Given the description of an element on the screen output the (x, y) to click on. 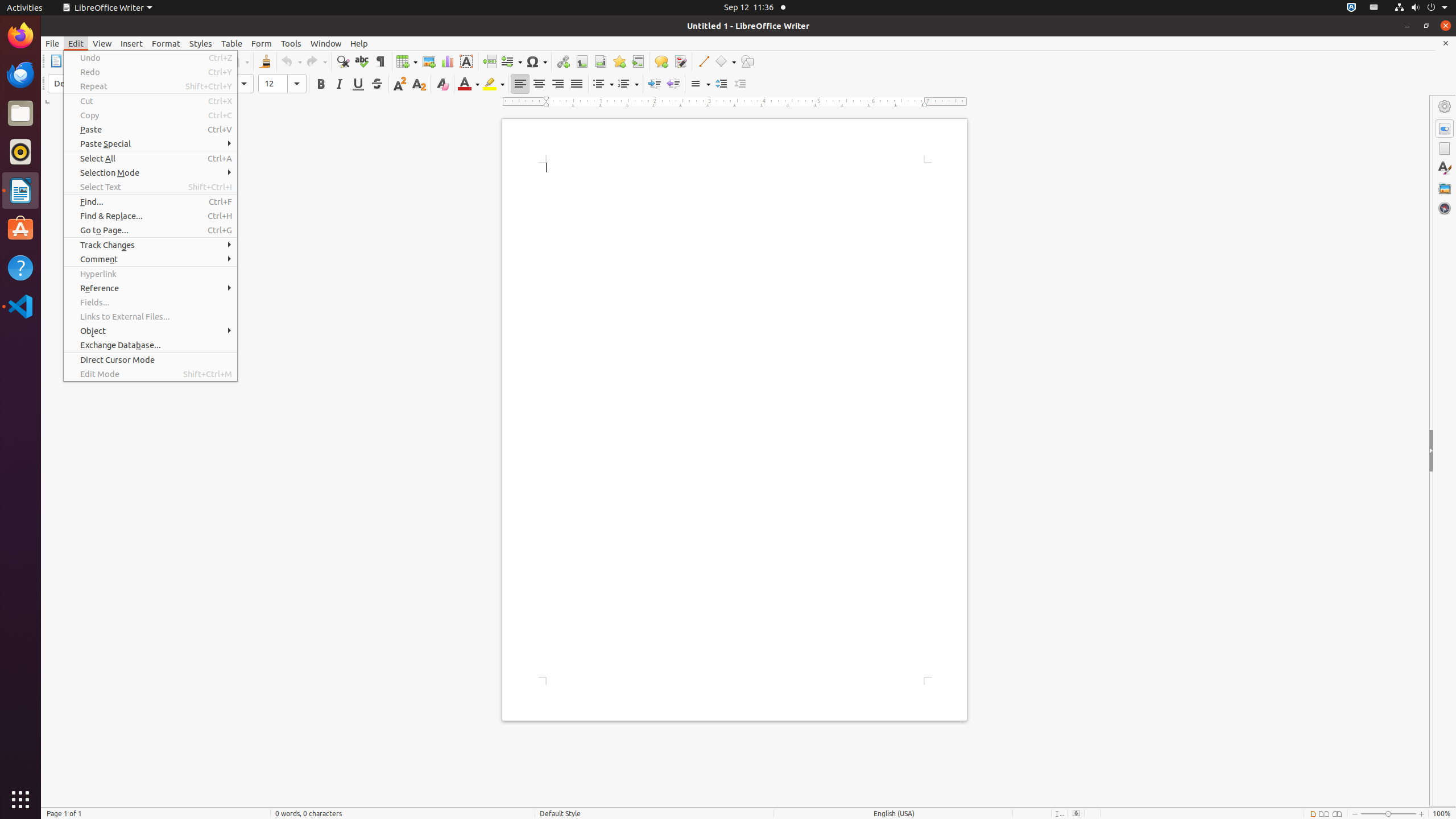
Italic Element type: toggle-button (338, 83)
Exchange Database... Element type: menu-item (150, 344)
Paste Special Element type: menu (150, 143)
Line Element type: toggle-button (702, 61)
Track Changes Functions Element type: toggle-button (679, 61)
